Given the description of an element on the screen output the (x, y) to click on. 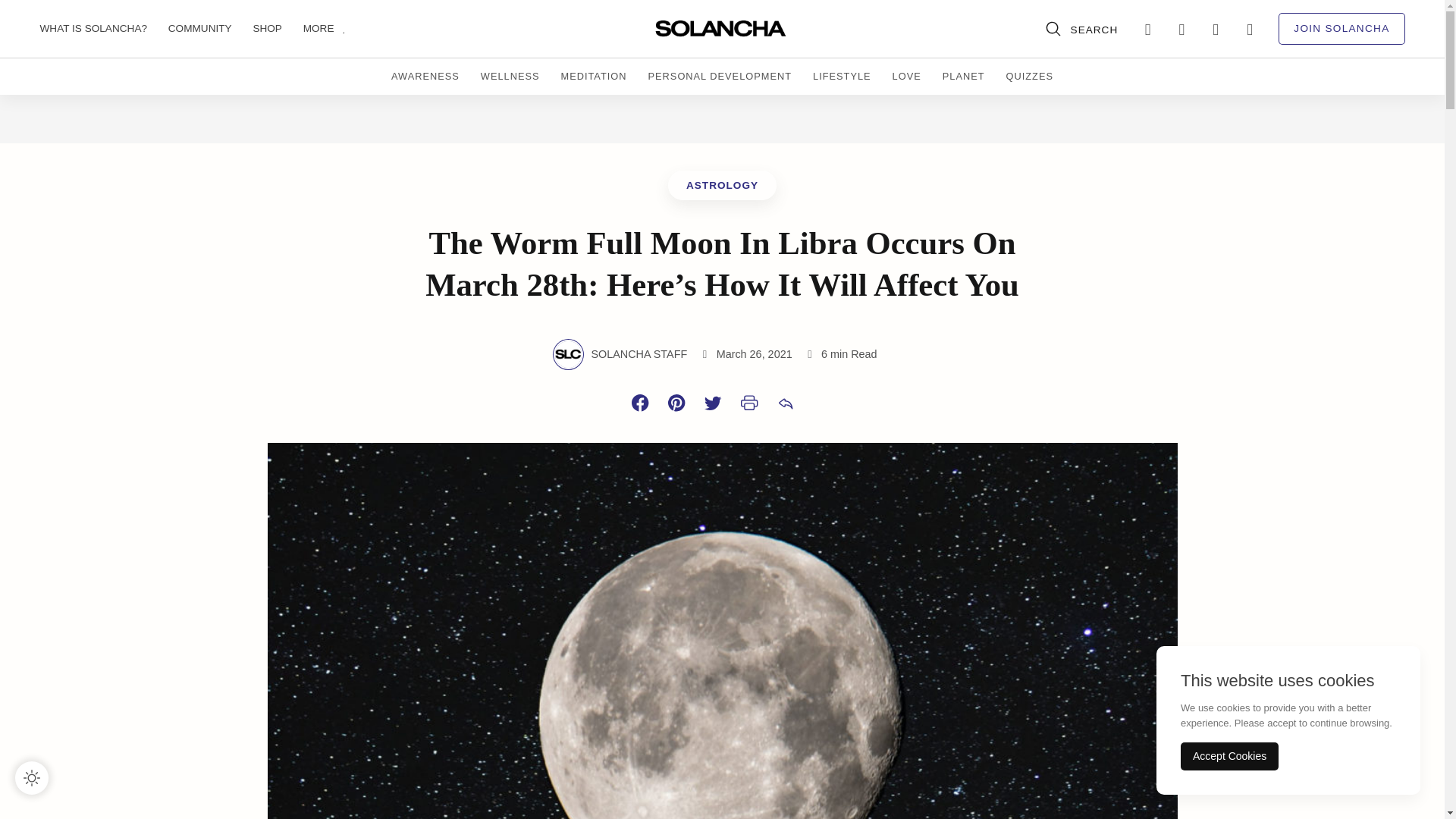
SOLANCHA on Youtube (1215, 29)
WELLNESS (510, 75)
SOLANCHA STAFF (639, 354)
ASTROLOGY (722, 184)
SOLANCHA on Instagram (1181, 29)
COMMUNITY (209, 28)
PLANET (963, 75)
SOLANCHA STAFF avatar (567, 354)
SOLANCHA - Awaken Your Potential, Power and Purpose. (721, 28)
QUIZZES (1029, 75)
